Given the description of an element on the screen output the (x, y) to click on. 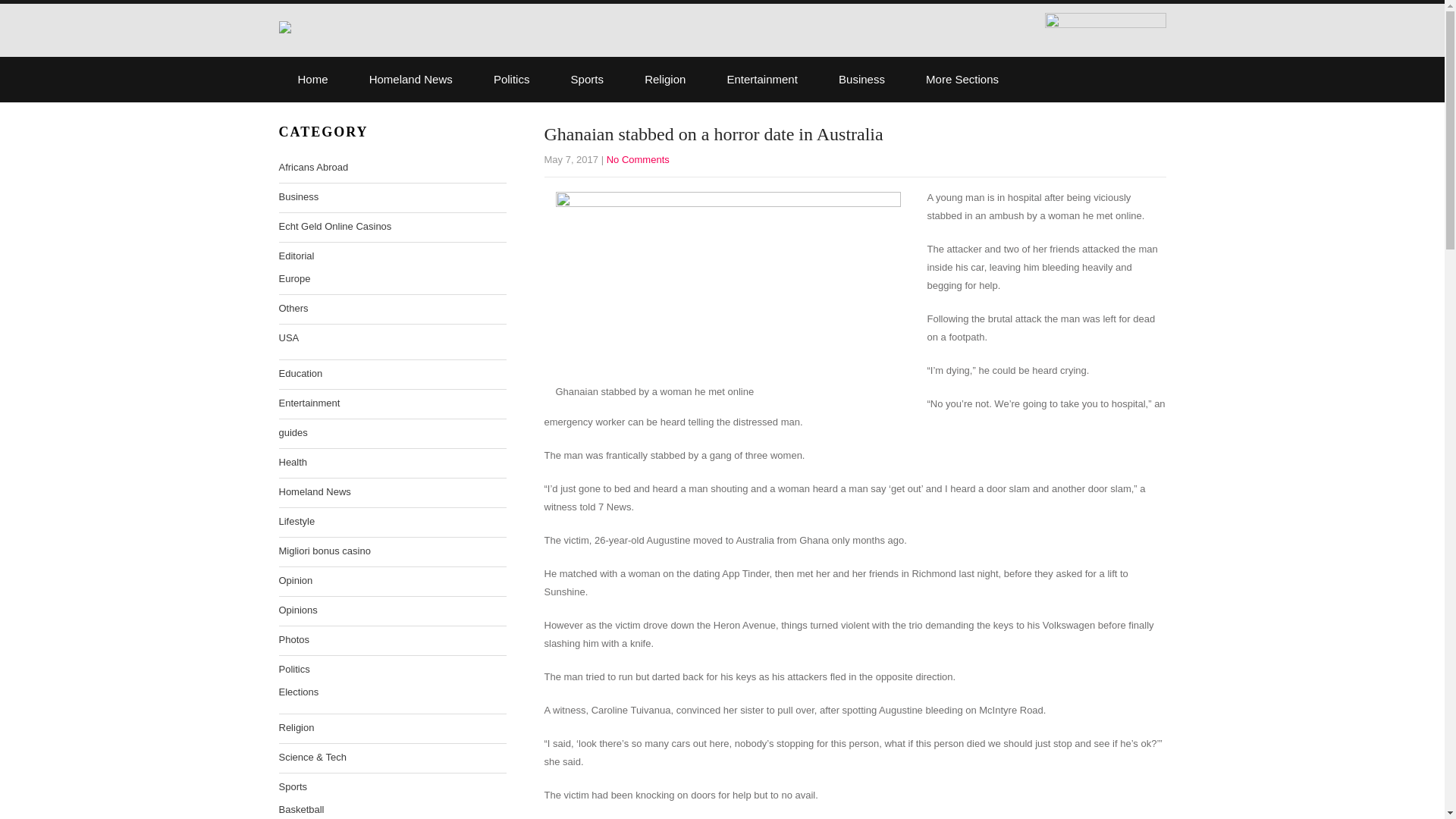
Entertainment (761, 79)
Top of Page (1401, 786)
Politics (511, 79)
Home (313, 79)
Echt Geld Online Casinos (335, 226)
More Sections (962, 79)
Africans Abroad (314, 167)
Sports (587, 79)
Homeland News (410, 79)
Business (861, 79)
